Given the description of an element on the screen output the (x, y) to click on. 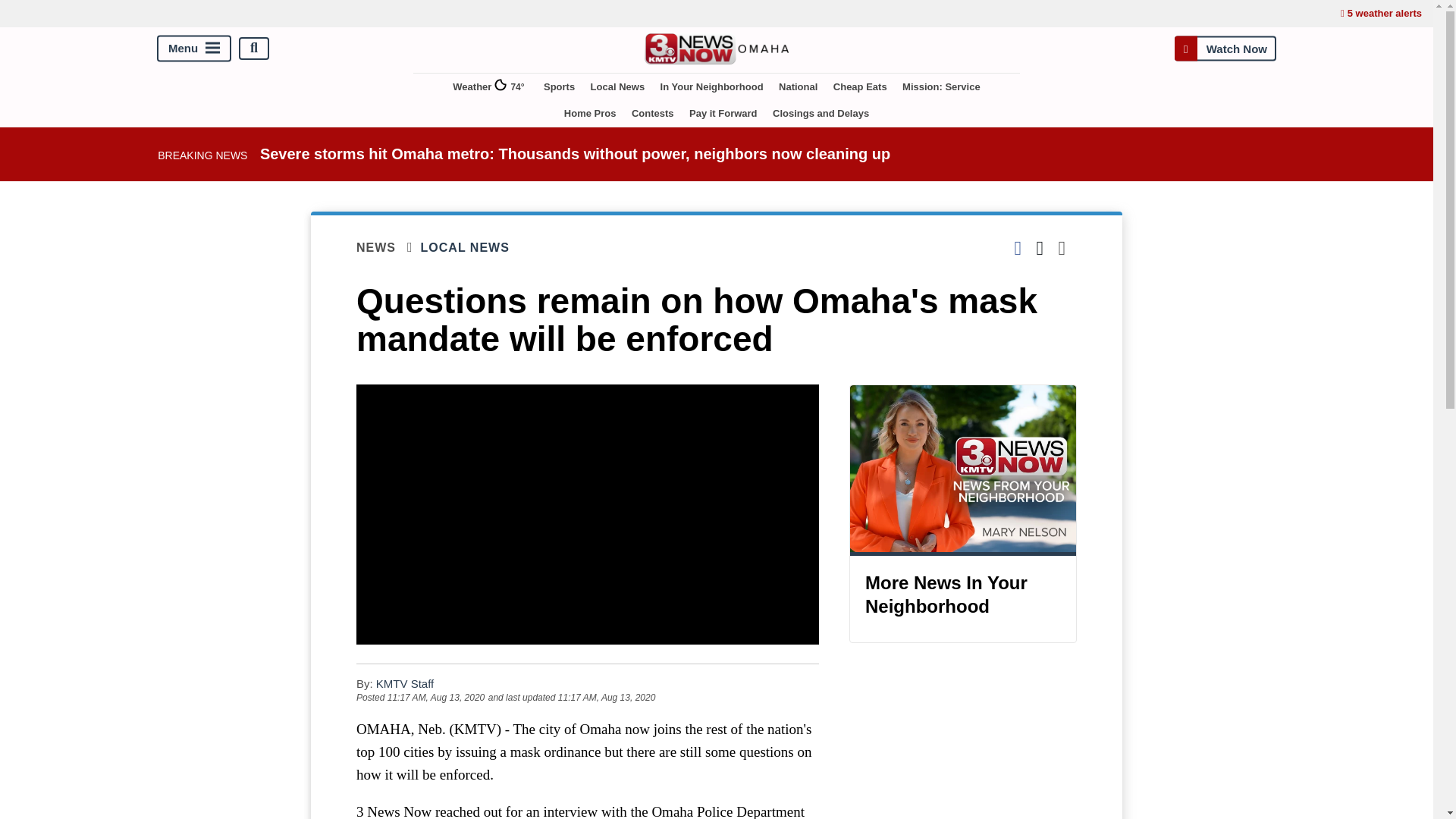
Menu (194, 48)
Watch Now (1224, 47)
